Given the description of an element on the screen output the (x, y) to click on. 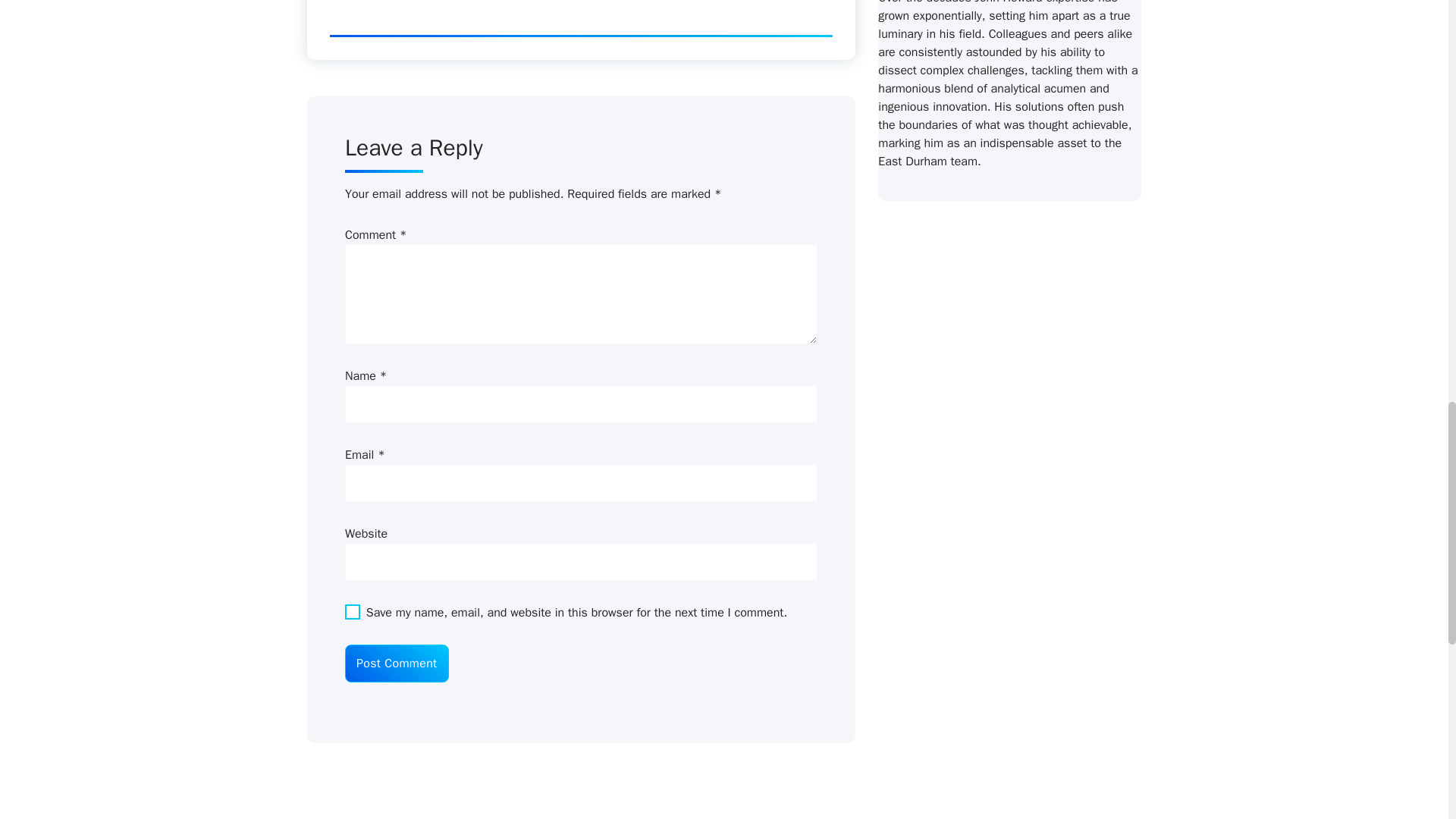
yes (352, 611)
Post Comment (396, 663)
Post Comment (396, 663)
